Given the description of an element on the screen output the (x, y) to click on. 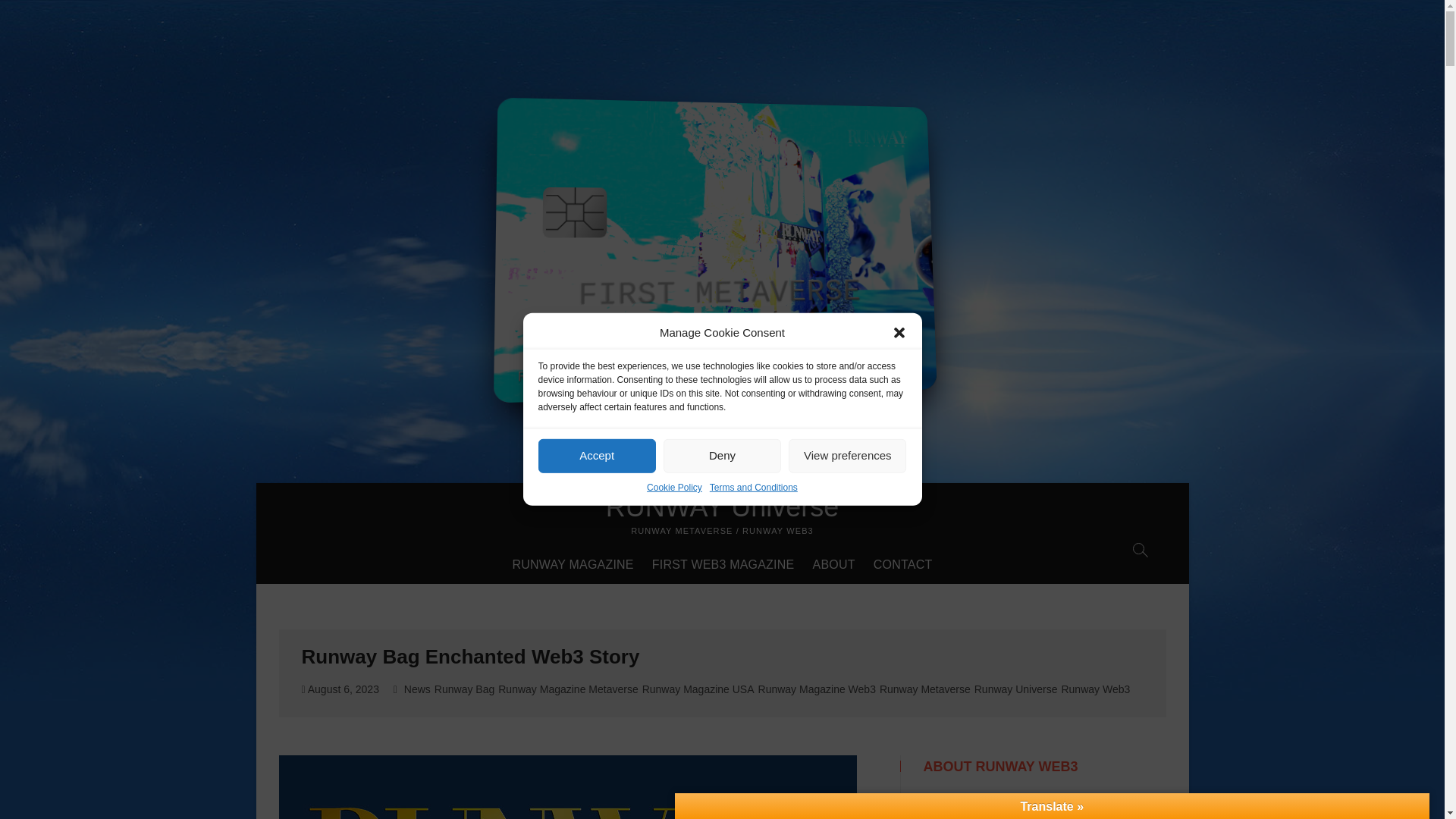
Runway Magazine Metaverse (569, 691)
Runway Magazine Web3 (818, 691)
ABOUT (834, 564)
News (418, 691)
RUNWAY MAGAZINE (573, 564)
Cookie Policy (673, 579)
Runway Universe (1017, 691)
FIRST WEB3 MAGAZINE (723, 564)
August 6, 2023 (339, 689)
View preferences (847, 655)
CONTACT (903, 564)
RUNWAY Universe (721, 507)
Runway Metaverse (926, 691)
Runway Magazine USA (700, 691)
